Given the description of an element on the screen output the (x, y) to click on. 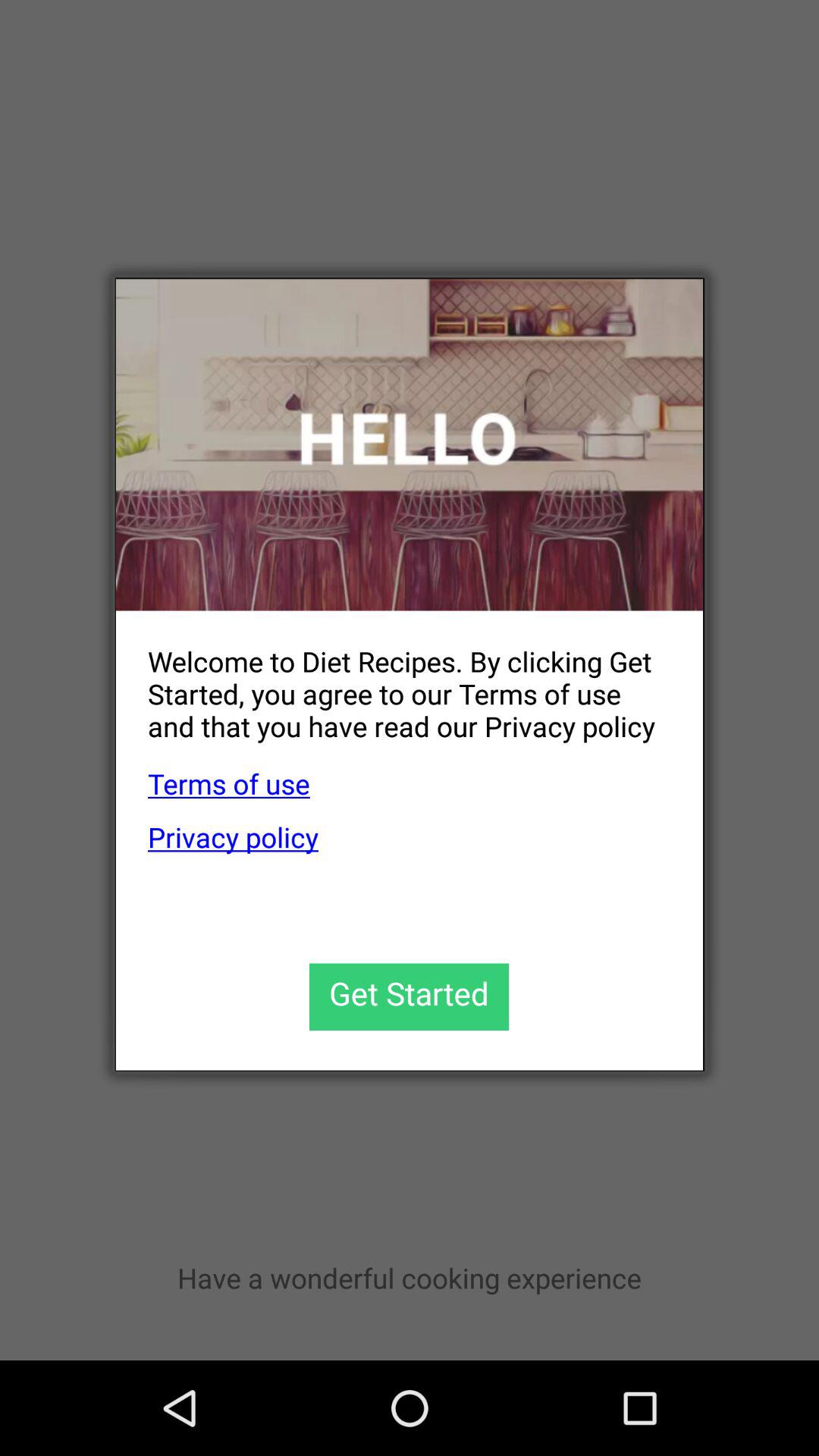
tap welcome to diet item (393, 681)
